Given the description of an element on the screen output the (x, y) to click on. 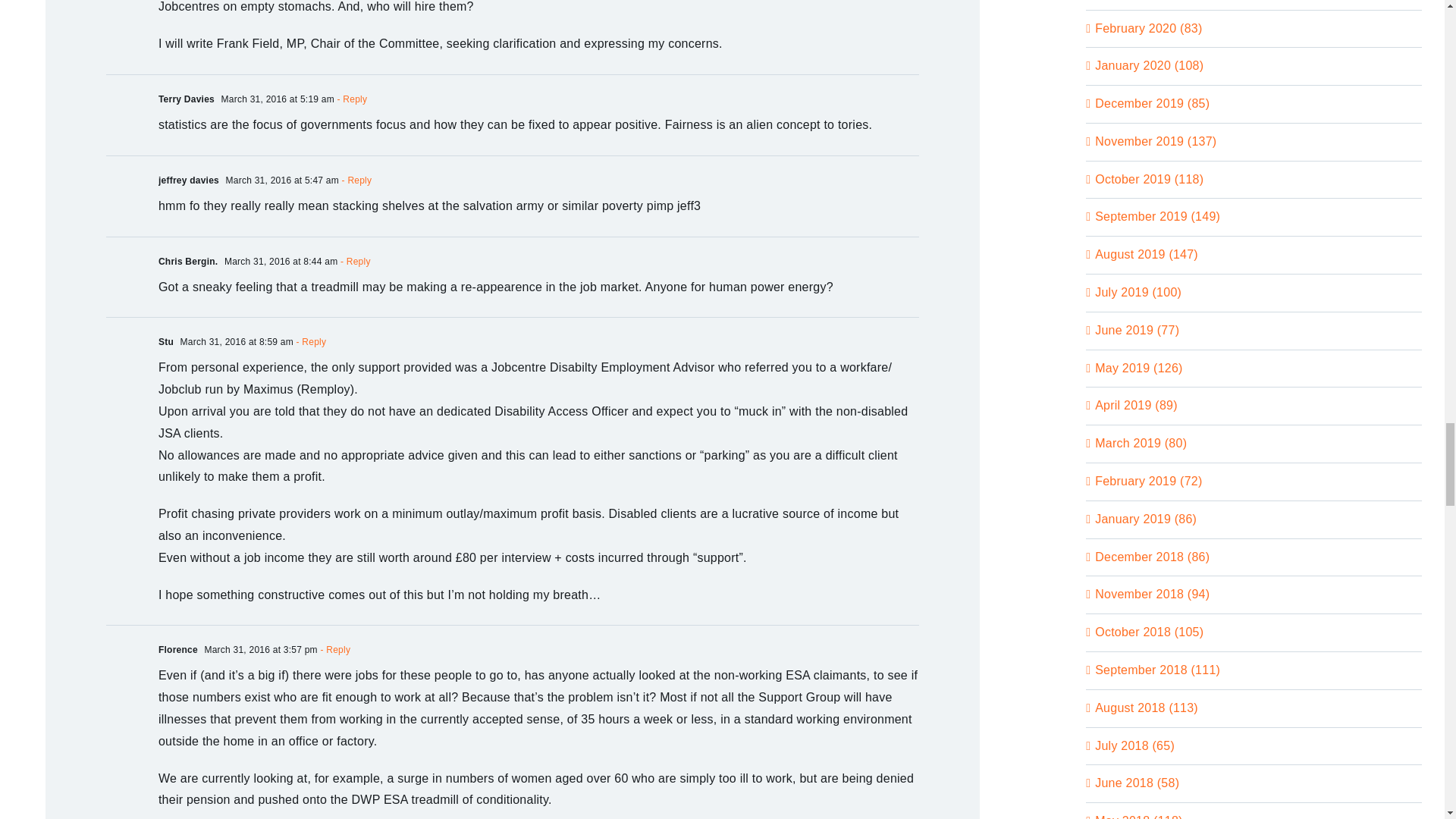
- Reply (310, 341)
- Reply (355, 180)
- Reply (353, 261)
- Reply (333, 649)
- Reply (350, 99)
